Given the description of an element on the screen output the (x, y) to click on. 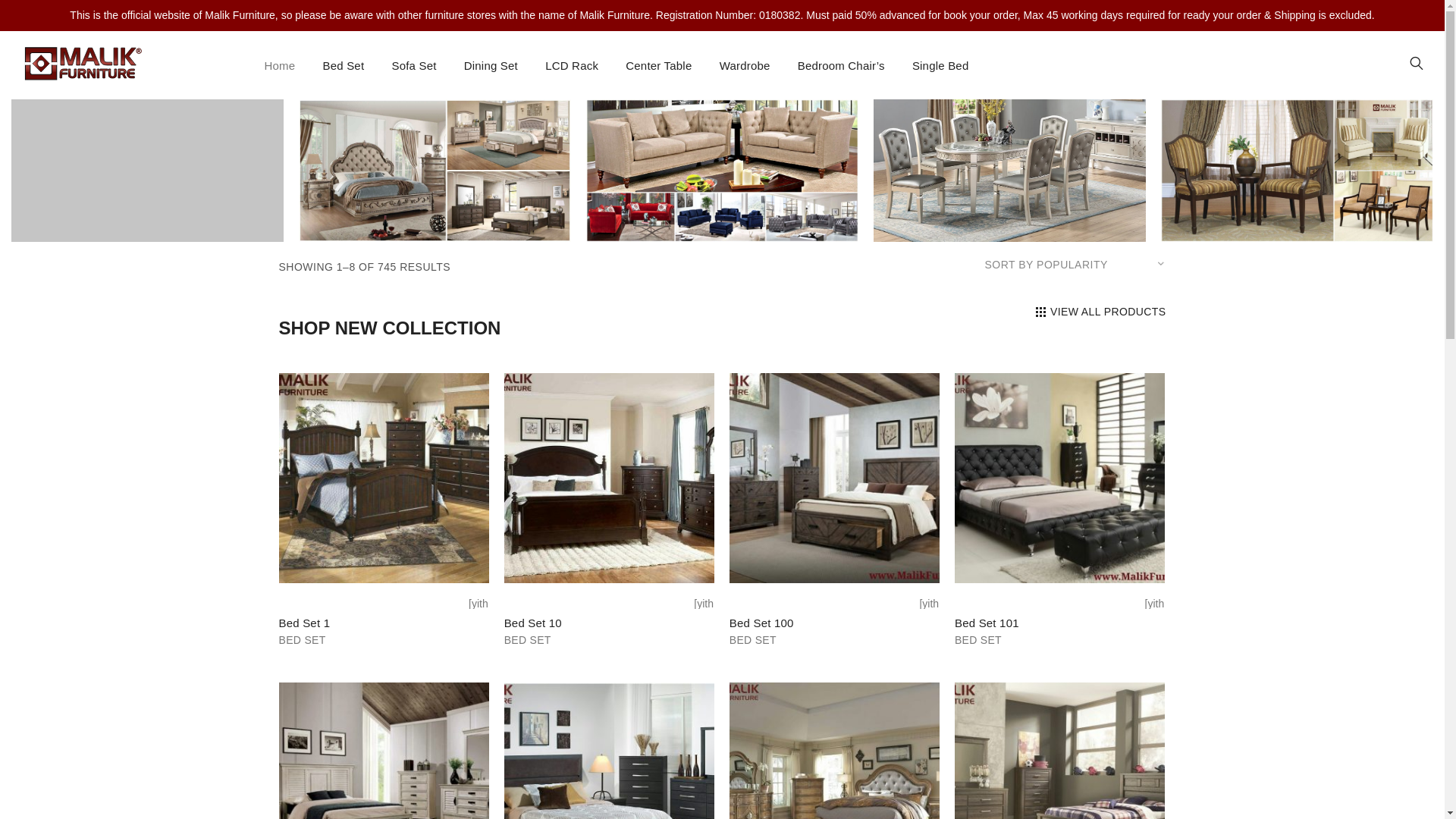
Wardrobe (744, 65)
LCD Rack (571, 65)
BED SET (527, 639)
BED SET (752, 639)
Bed Set 10 (532, 622)
Dining Set (491, 65)
Bed Set (342, 65)
Single Bed (940, 65)
Home (279, 65)
Center Table (658, 65)
